Given the description of an element on the screen output the (x, y) to click on. 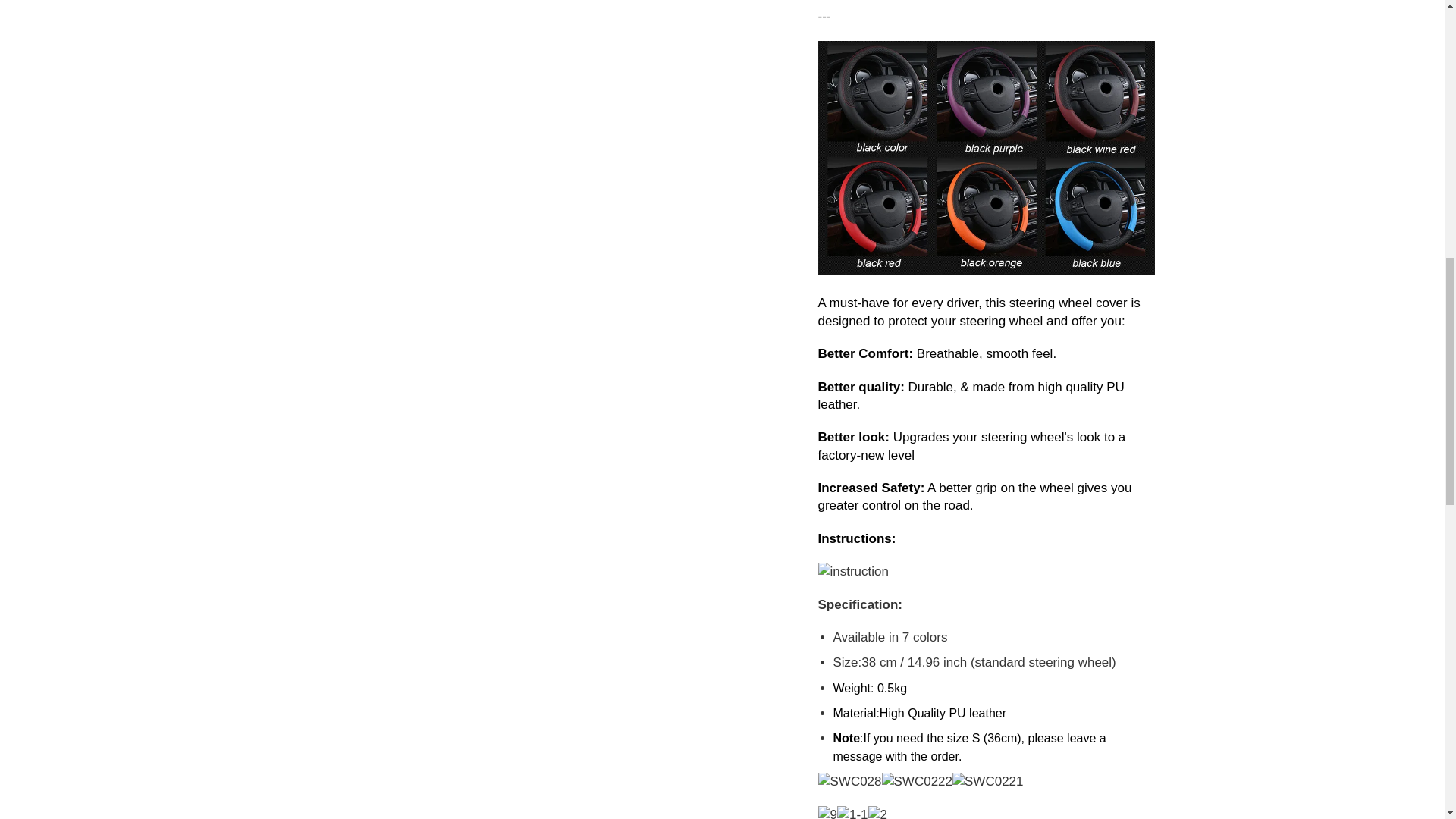
0.5kg (892, 687)
0.5kg (919, 712)
0.5kg (968, 747)
